Given the description of an element on the screen output the (x, y) to click on. 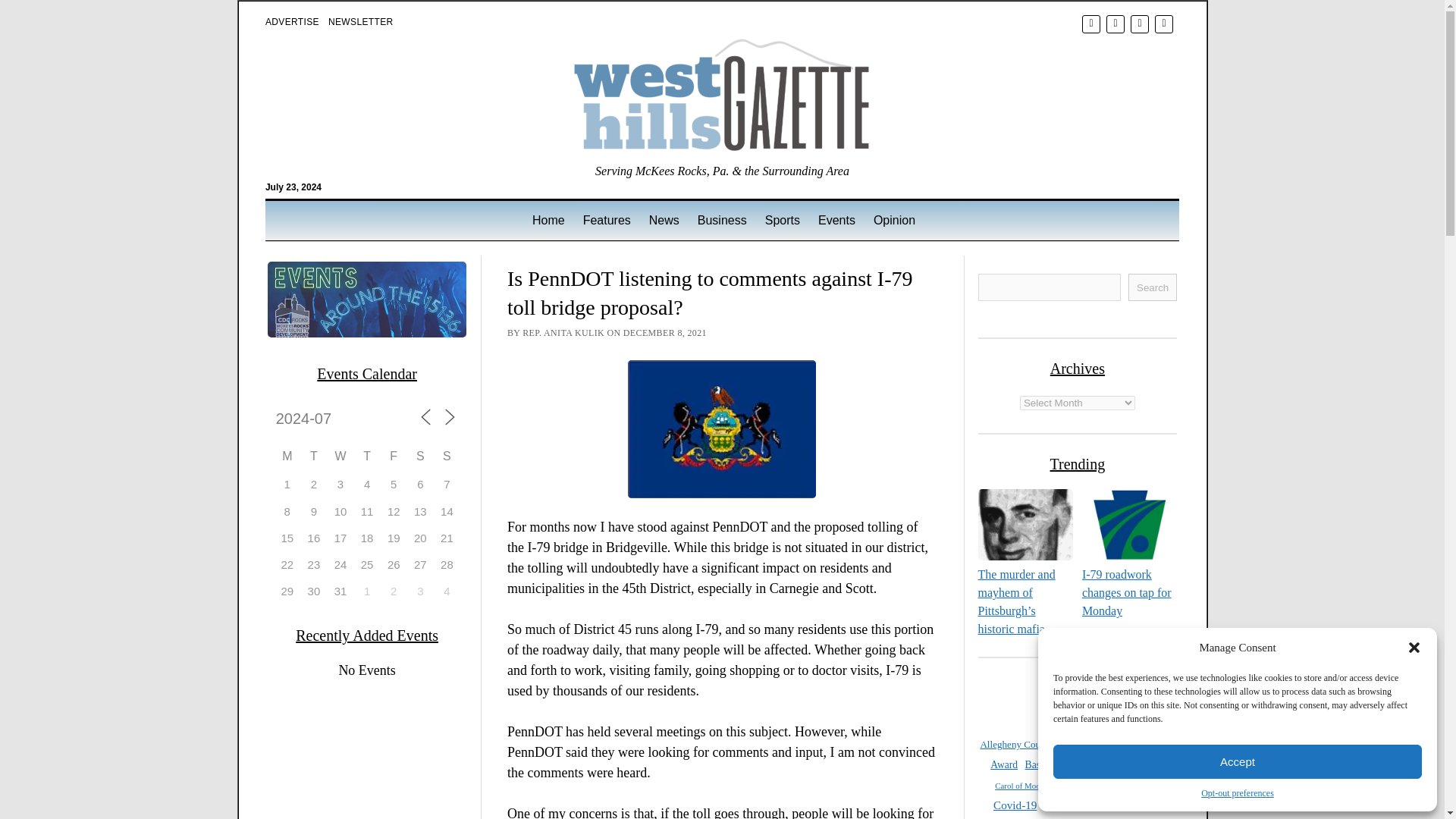
News (664, 220)
Opt-out preferences (1237, 793)
Events (836, 220)
2024-07 (326, 419)
ADVERTISE (291, 21)
Accept (1237, 761)
Sports (782, 220)
NEWSLETTER (361, 21)
Business (721, 220)
Home (547, 220)
Features (606, 220)
Opinion (894, 220)
Search (945, 129)
